Given the description of an element on the screen output the (x, y) to click on. 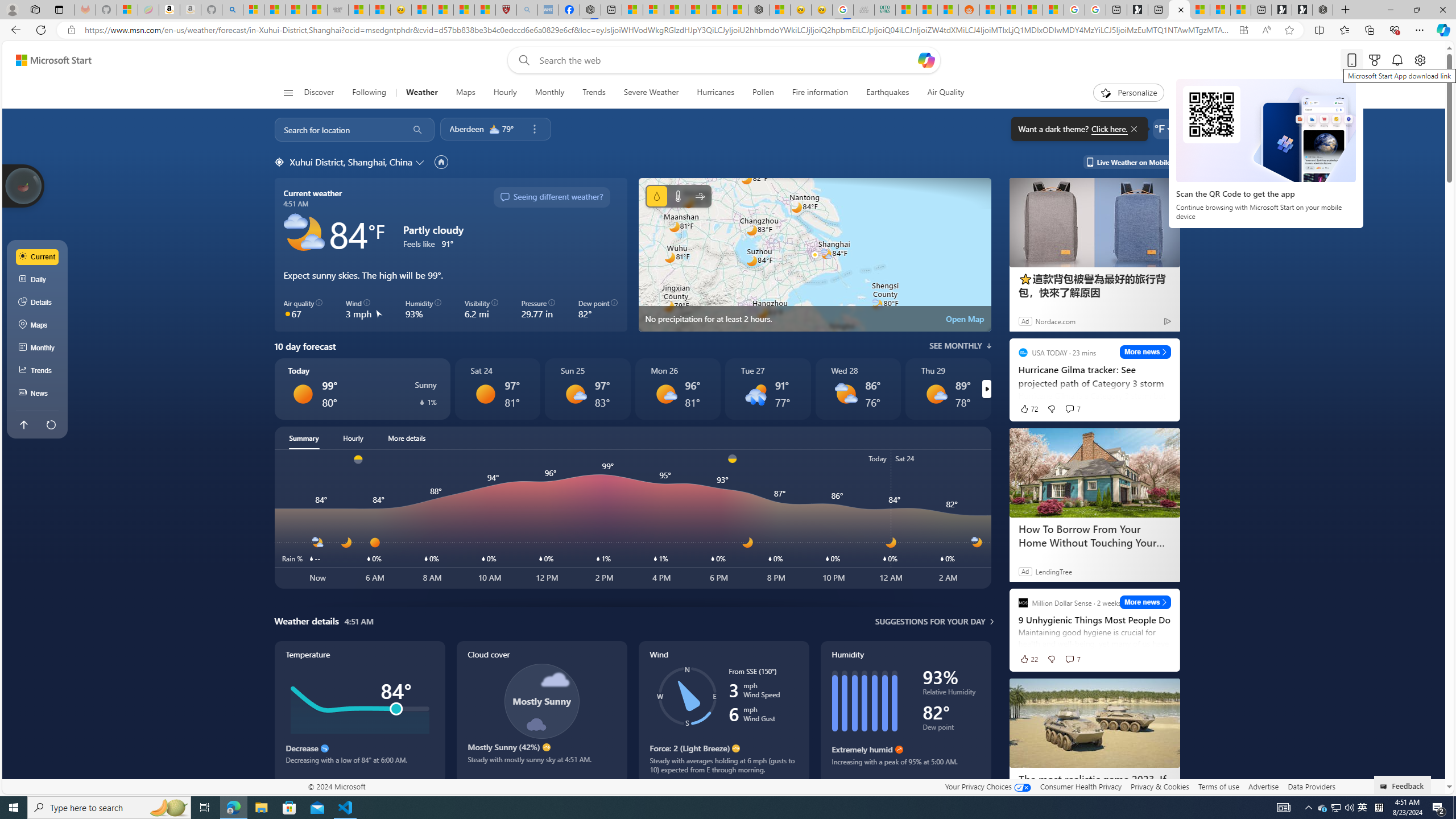
Your Privacy Choices (987, 786)
Cloud cover (541, 711)
Class: miniMapRadarSVGView-DS-EntryPoint1-1 (814, 254)
Search for location (337, 128)
Data Providers (1311, 785)
Nordace - #1 Japanese Best-Seller - Siena Smart Backpack (759, 9)
Rain showers (755, 393)
